Given the description of an element on the screen output the (x, y) to click on. 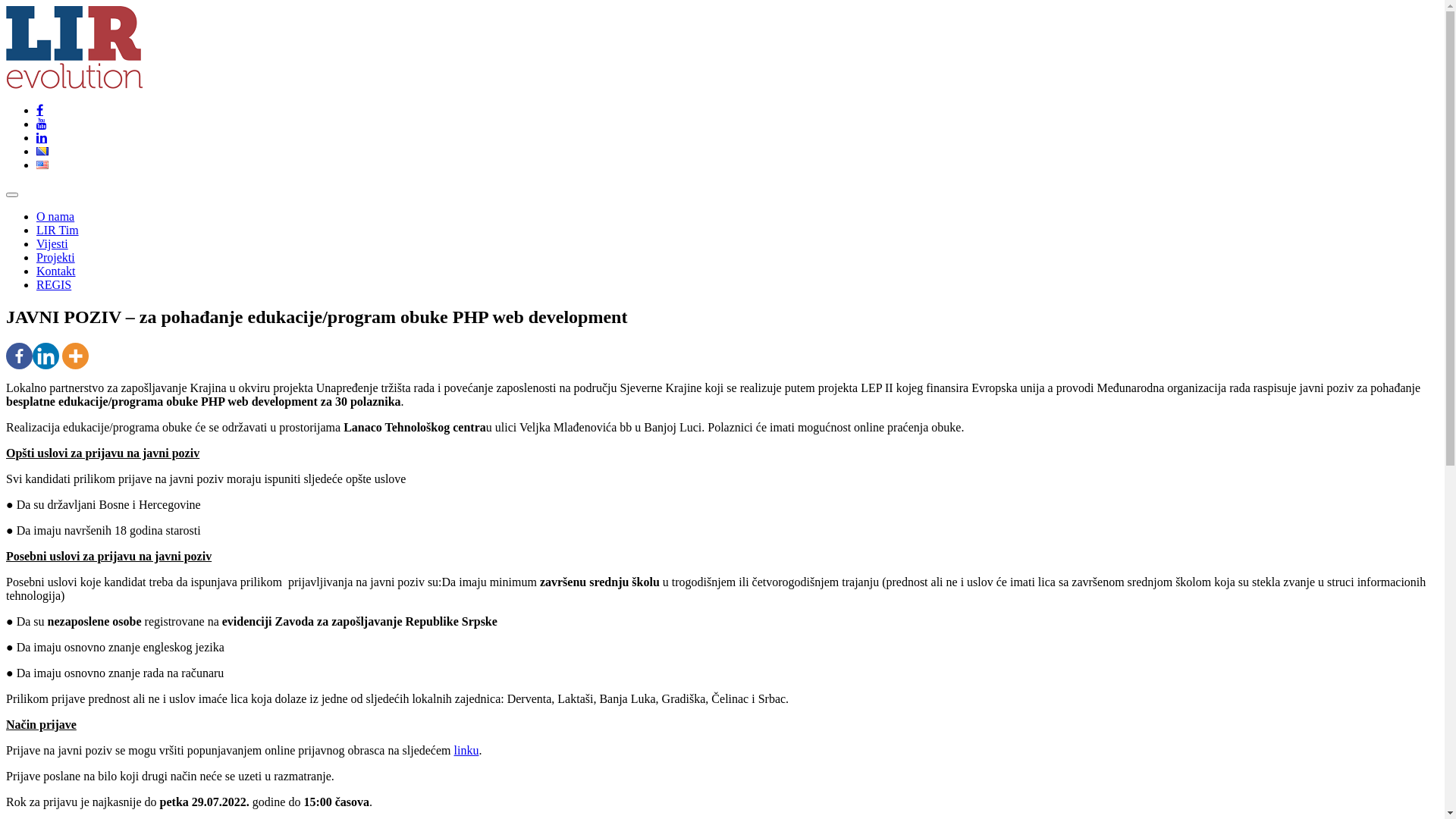
Facebook Element type: hover (19, 355)
Kontakt Element type: text (55, 270)
Projekti Element type: text (55, 257)
REGIS Element type: text (53, 284)
Vijesti Element type: text (52, 243)
O nama Element type: text (55, 216)
LIR Tim Element type: text (57, 229)
linku Element type: text (466, 749)
Linkedin Element type: hover (45, 355)
More Element type: hover (75, 355)
